Given the description of an element on the screen output the (x, y) to click on. 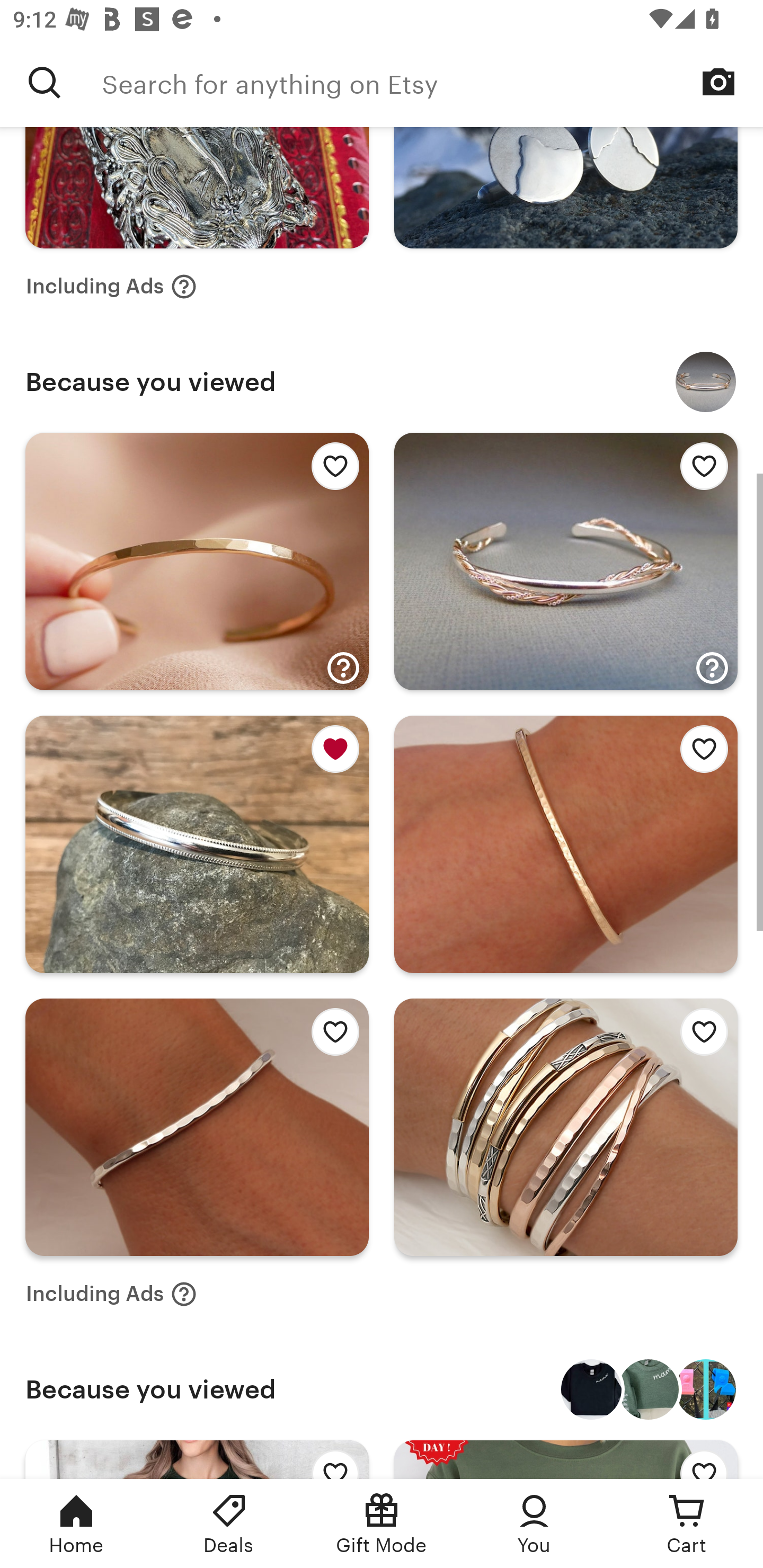
Search for anything on Etsy (44, 82)
Search by image (718, 81)
Search for anything on Etsy (432, 82)
Including Ads (111, 285)
Including Ads (111, 1293)
Deals (228, 1523)
Gift Mode (381, 1523)
You (533, 1523)
Cart (686, 1523)
